Given the description of an element on the screen output the (x, y) to click on. 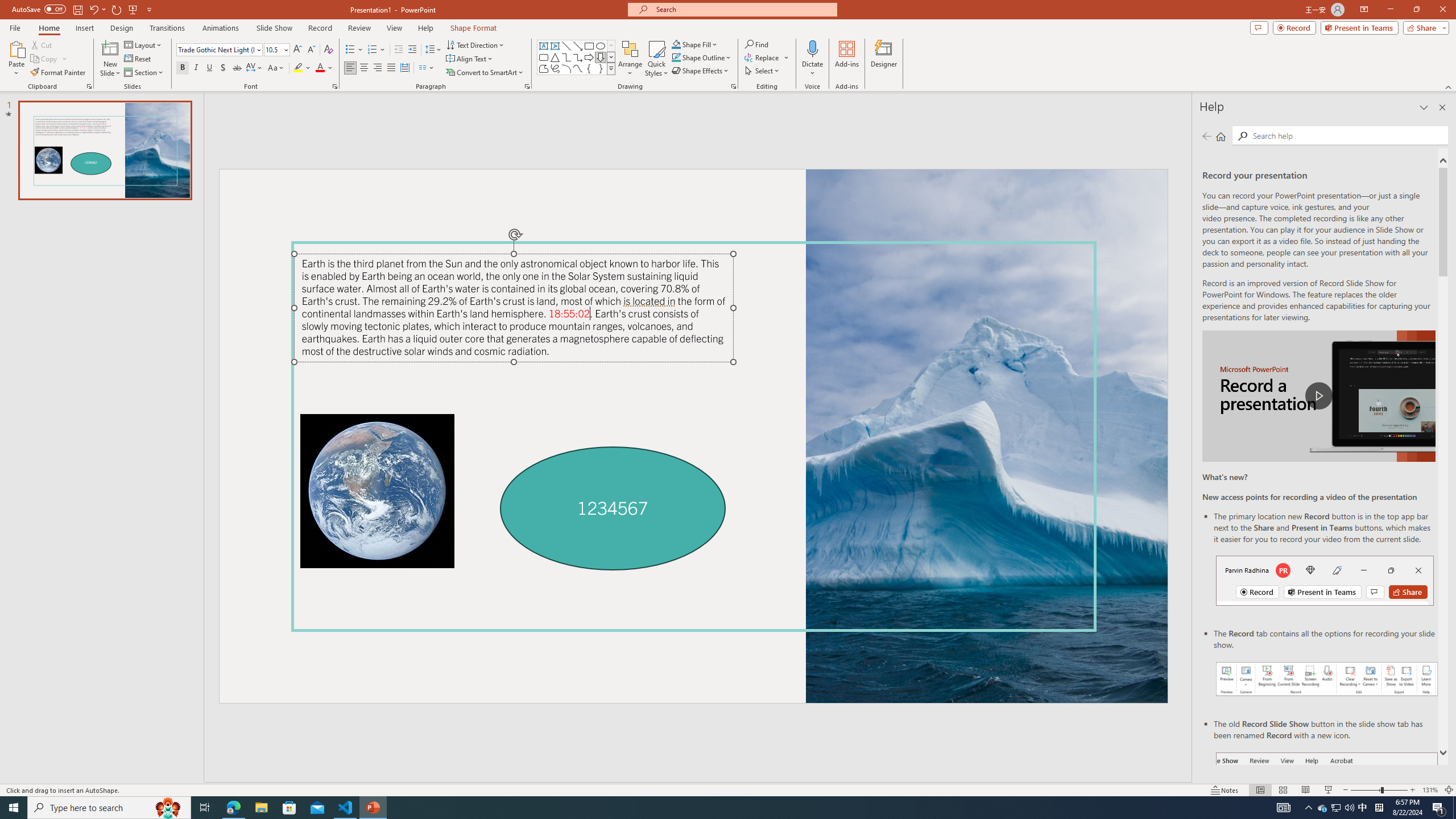
Text Highlight Color Yellow (297, 67)
Find... (756, 44)
Arrow: Down (600, 57)
Increase Indent (412, 49)
AutomationID: ShapesInsertGallery (576, 57)
Align Right (377, 67)
